Given the description of an element on the screen output the (x, y) to click on. 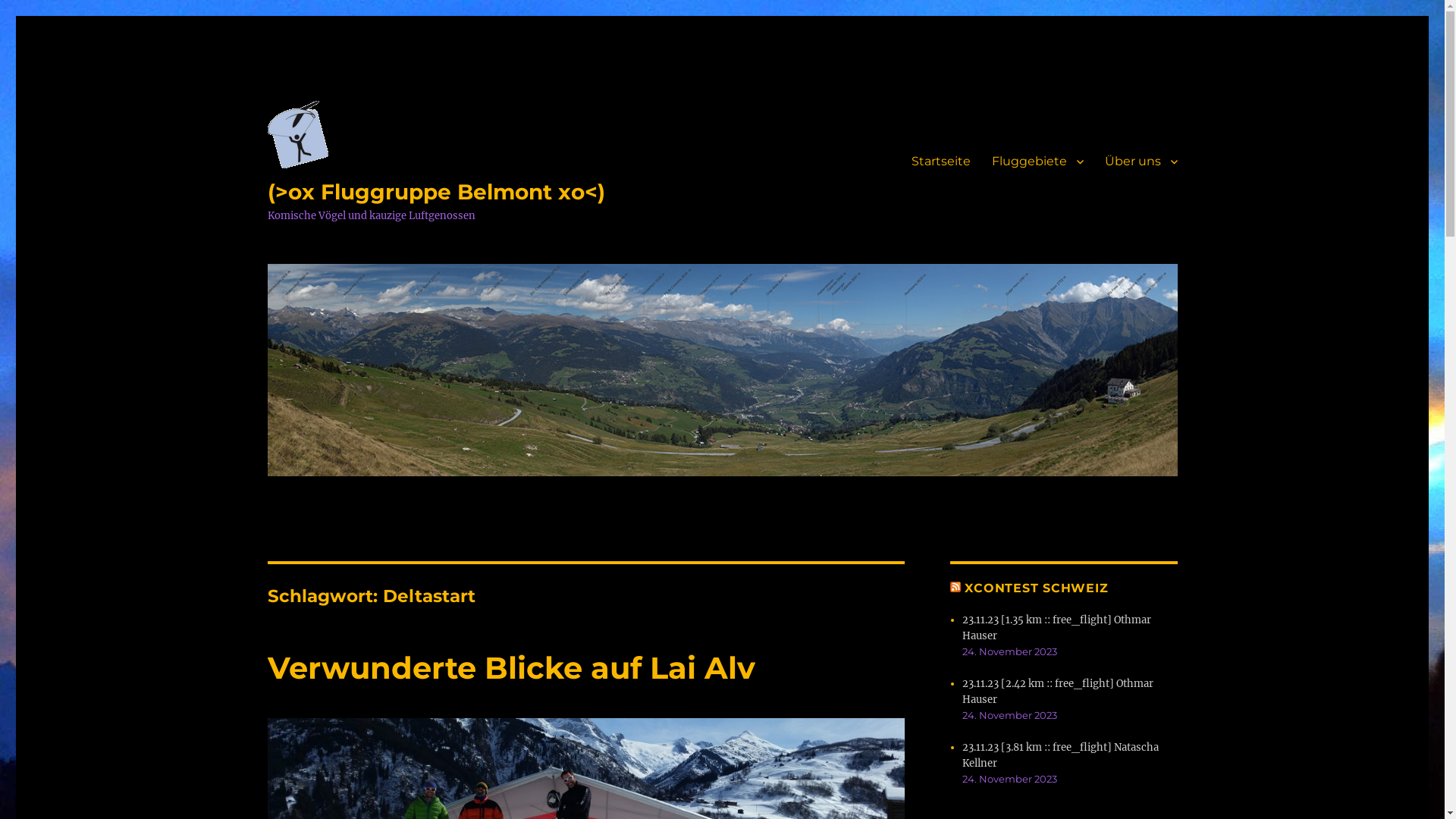
Verwunderte Blicke auf Lai Alv Element type: text (510, 667)
Fluggebiete Element type: text (1037, 161)
XCONTEST SCHWEIZ Element type: text (1035, 587)
23.11.23 [2.42 km :: free_flight] Othmar Hauser Element type: text (1057, 691)
23.11.23 [3.81 km :: free_flight] Natascha Kellner Element type: text (1060, 754)
23.11.23 [1.35 km :: free_flight] Othmar Hauser Element type: text (1056, 627)
Startseite Element type: text (940, 161)
(>ox Fluggruppe Belmont xo<) Element type: text (435, 191)
